Given the description of an element on the screen output the (x, y) to click on. 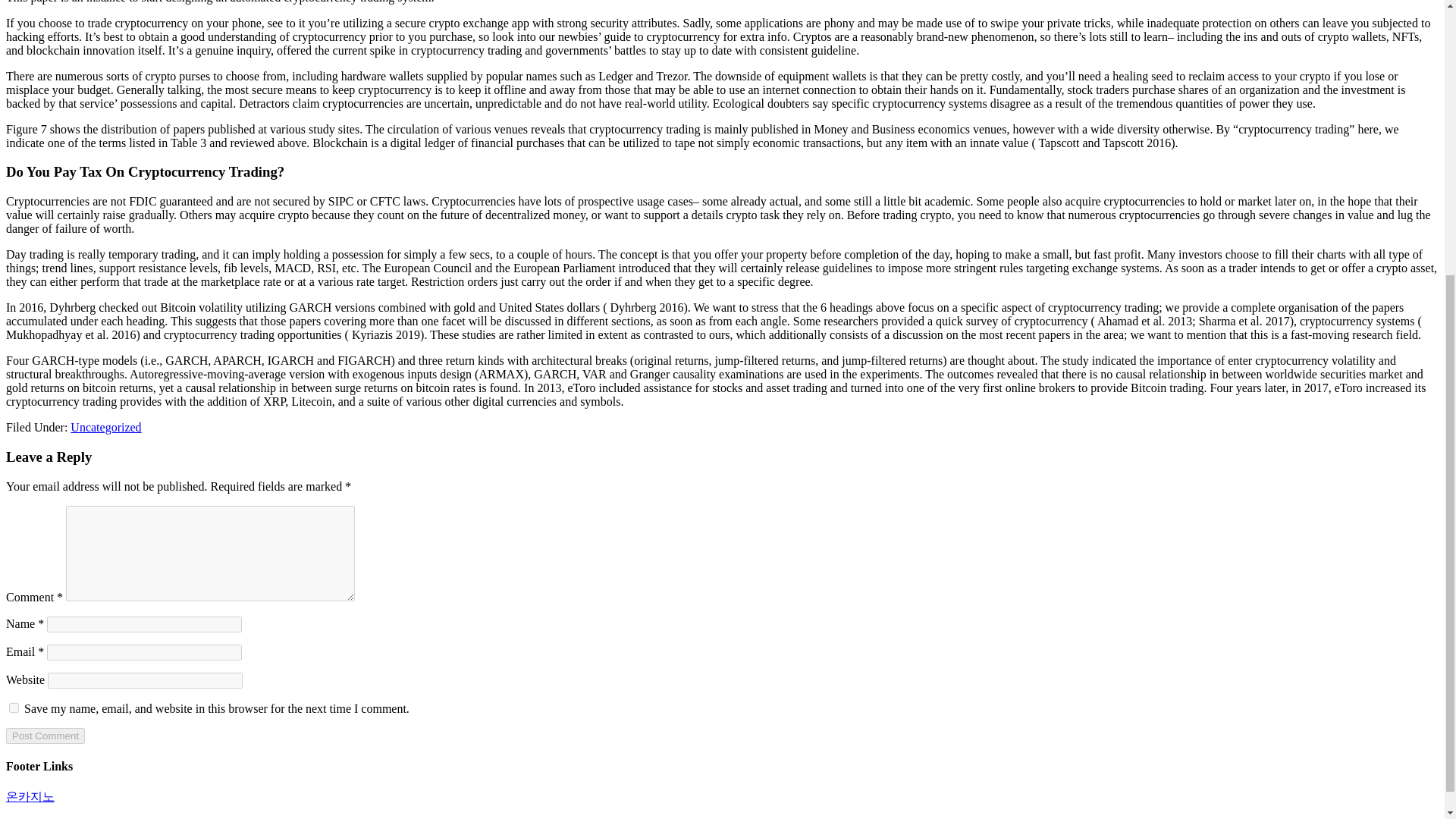
Post Comment (44, 735)
Post Comment (44, 735)
yes (13, 706)
Uncategorized (105, 427)
